Given the description of an element on the screen output the (x, y) to click on. 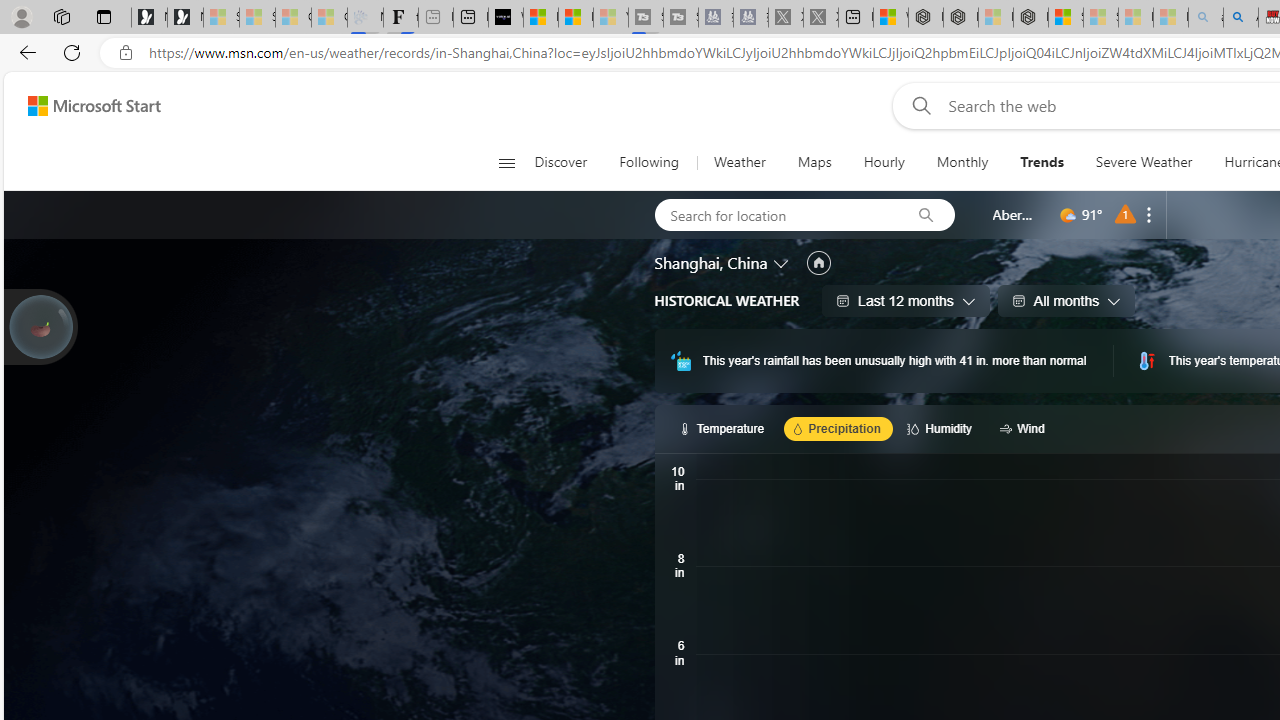
Humidity (942, 428)
Open navigation menu (506, 162)
Severe Weather (1144, 162)
Web search (917, 105)
Monthly (962, 162)
